Given the description of an element on the screen output the (x, y) to click on. 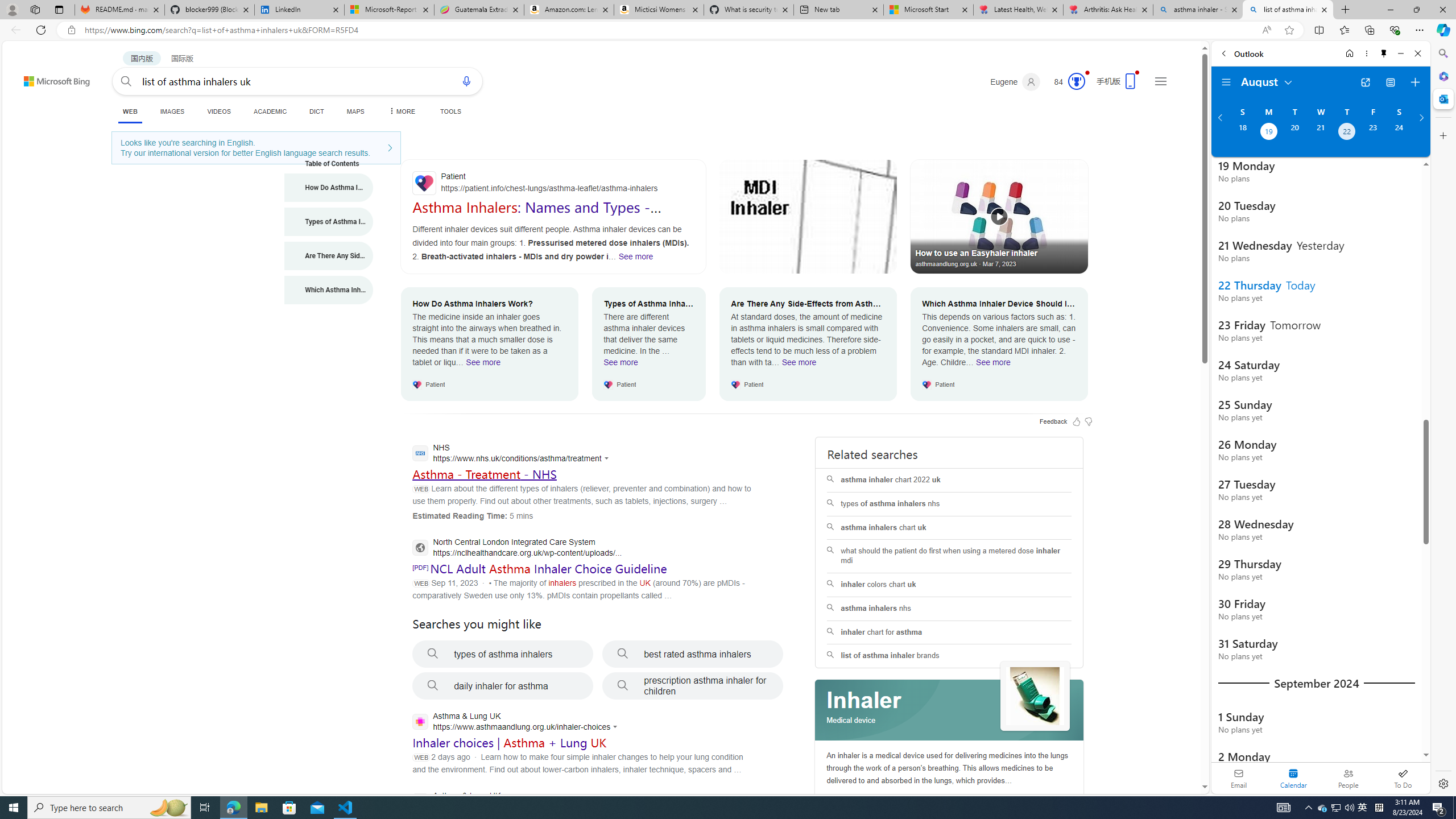
Settings and quick links (1160, 80)
Open in new tab (1365, 82)
Which Asthma Inhaler Device Should I use? (328, 290)
Asthma & Lung UK (513, 802)
WEB (129, 111)
